Given the description of an element on the screen output the (x, y) to click on. 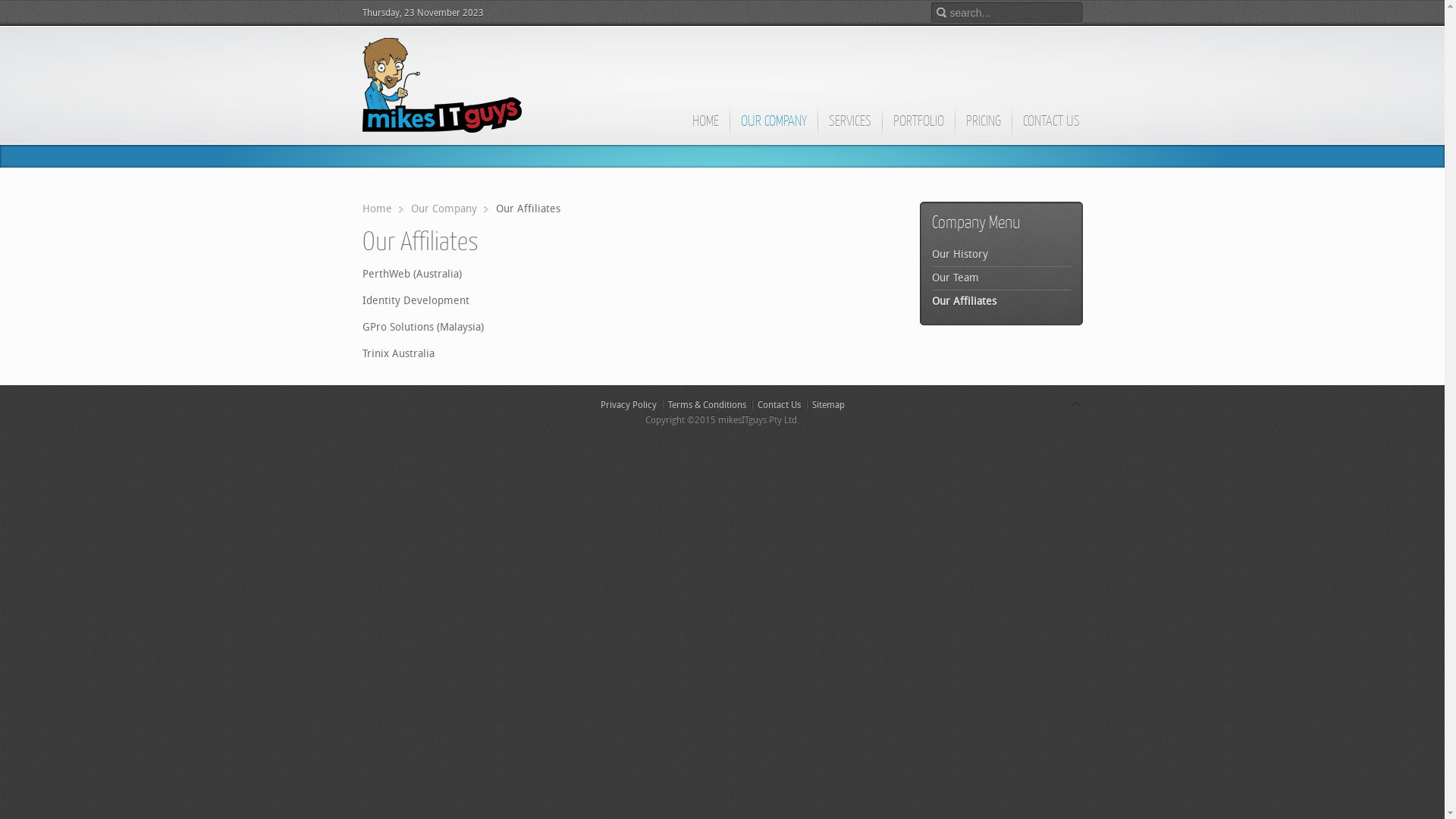
Privacy Policy Element type: text (628, 404)
PORTFOLIO Element type: text (917, 127)
Home Element type: text (382, 208)
Terms & Conditions Element type: text (706, 404)
Our Affiliates Element type: text (1000, 301)
PRICING Element type: text (981, 127)
Reset Element type: text (3, 3)
  Element type: text (441, 84)
Sitemap Element type: text (827, 404)
CONTACT US Element type: text (1050, 127)
HOME Element type: text (704, 127)
Our Company Element type: text (449, 208)
OUR COMPANY Element type: text (773, 127)
Our Team Element type: text (1000, 277)
SERVICES Element type: text (849, 127)
Our History Element type: text (1000, 254)
Contact Us Element type: text (778, 404)
